Given the description of an element on the screen output the (x, y) to click on. 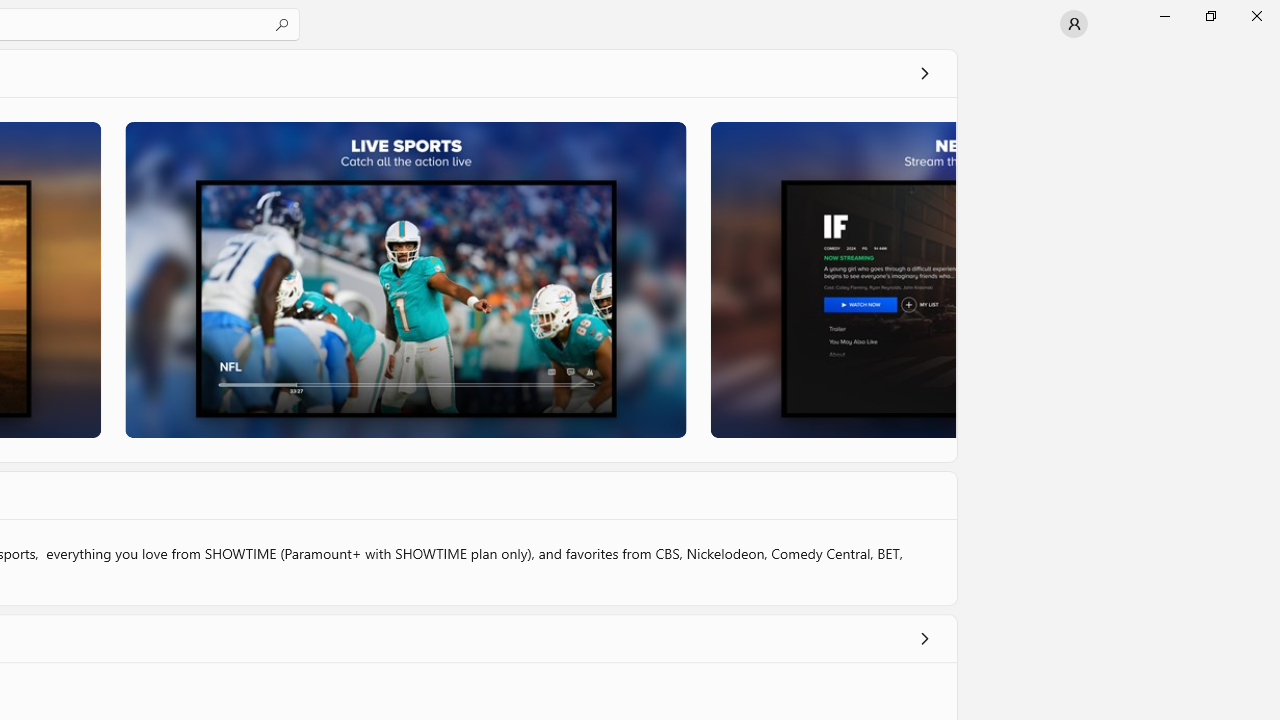
Screenshot 3 (832, 279)
Screenshot 2 (405, 279)
Show all ratings and reviews (924, 637)
See all (924, 72)
